Given the description of an element on the screen output the (x, y) to click on. 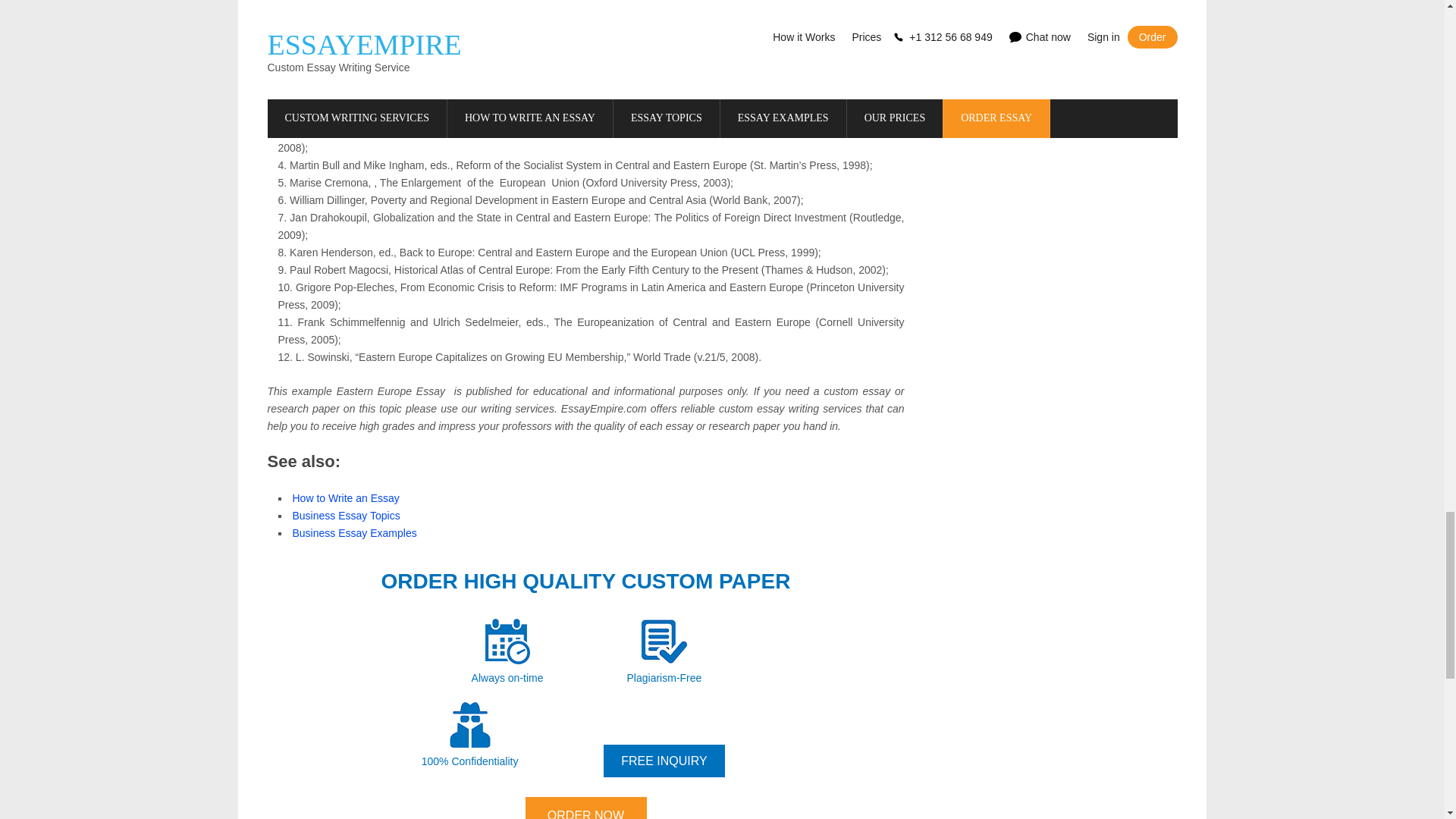
FREE INQUIRY (664, 760)
How to Write an Essay (345, 498)
Business Essay Topics (346, 515)
Business Essay Examples (354, 532)
ORDER NOW (585, 807)
